Given the description of an element on the screen output the (x, y) to click on. 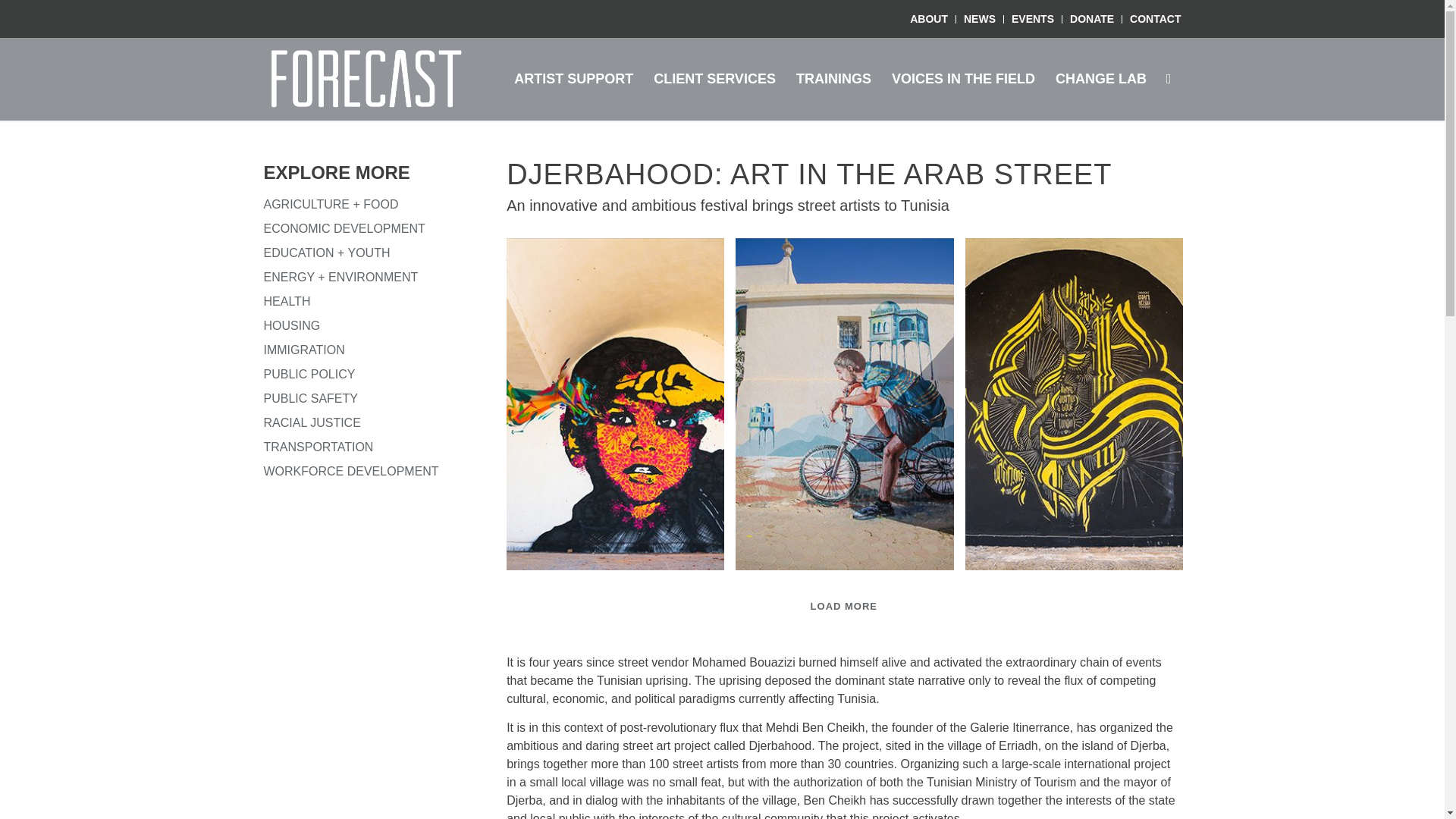
TRANSPORTATION (318, 446)
LOAD MORE (843, 606)
IMMIGRATION (304, 349)
CONTACT (1154, 18)
PUBLIC SAFETY (310, 398)
CLIENT SERVICES (714, 78)
VOICES IN THE FIELD (962, 78)
NEWS (979, 18)
HEALTH (287, 300)
RACIAL JUSTICE (312, 422)
EVENTS (1032, 18)
WORKFORCE DEVELOPMENT (351, 471)
ECONOMIC DEVELOPMENT (344, 230)
ABOUT (928, 18)
HOUSING (291, 325)
